Given the description of an element on the screen output the (x, y) to click on. 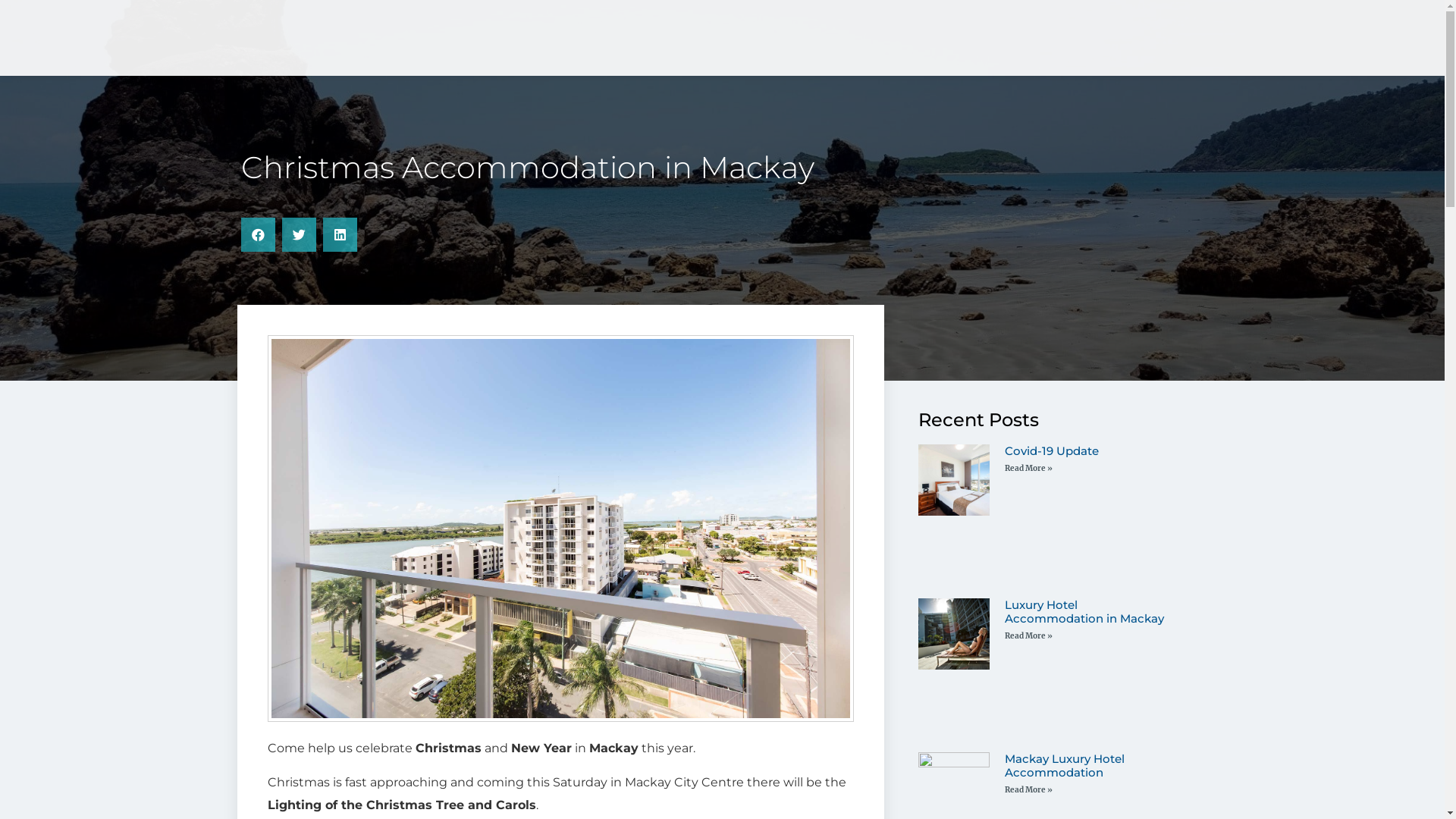
Mackay Luxury Hotel Accommodation Element type: text (1064, 765)
Covid-19 Update Element type: text (1051, 450)
Luxury Hotel Accommodation in Mackay Element type: text (1084, 611)
